Given the description of an element on the screen output the (x, y) to click on. 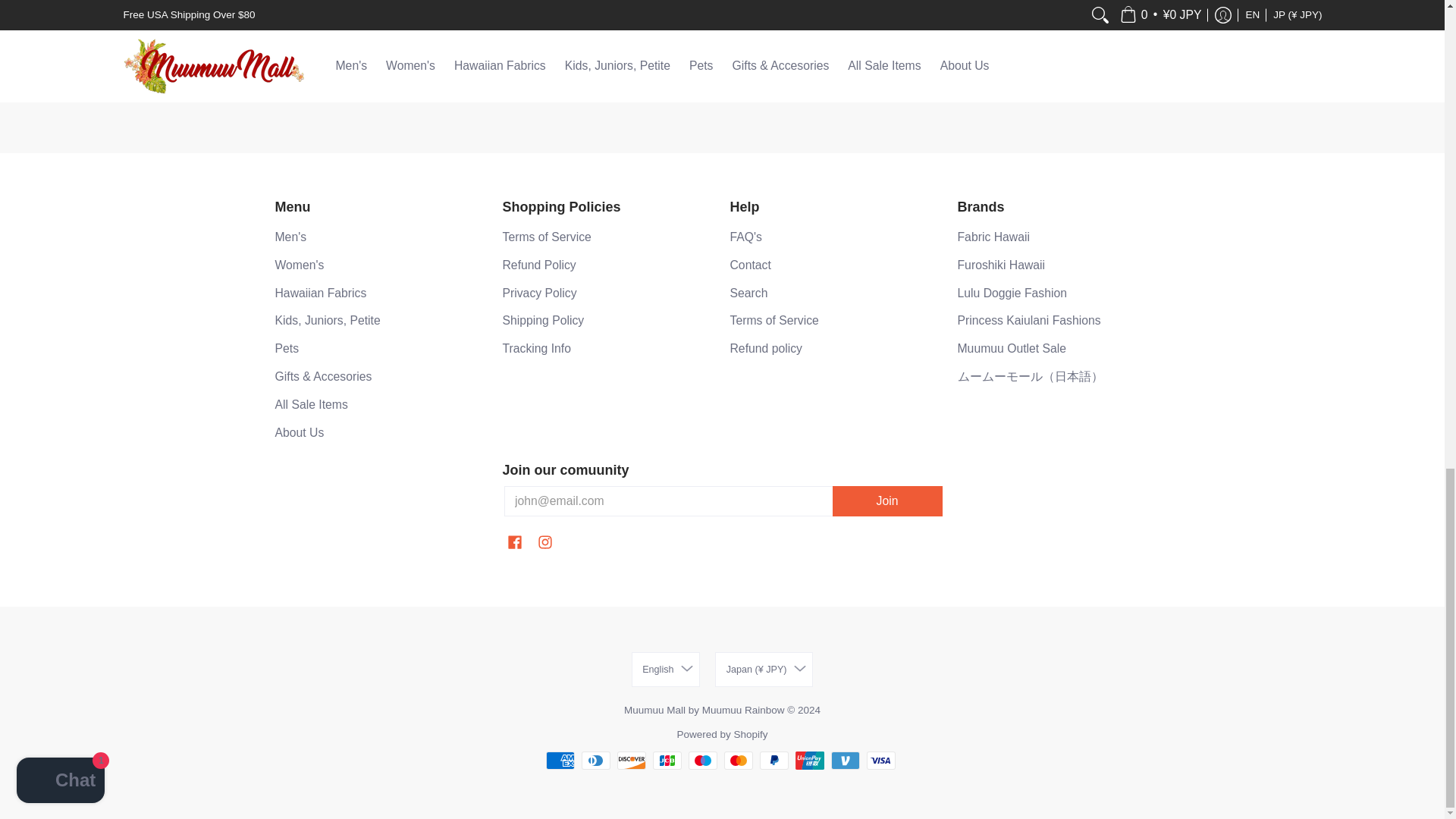
Union Pay (809, 760)
JCB (666, 760)
Discover (631, 760)
PayPal (774, 760)
Maestro (702, 760)
Visa (880, 760)
American Express (560, 760)
Venmo (845, 760)
Mastercard (737, 760)
Diners Club (595, 760)
